Given the description of an element on the screen output the (x, y) to click on. 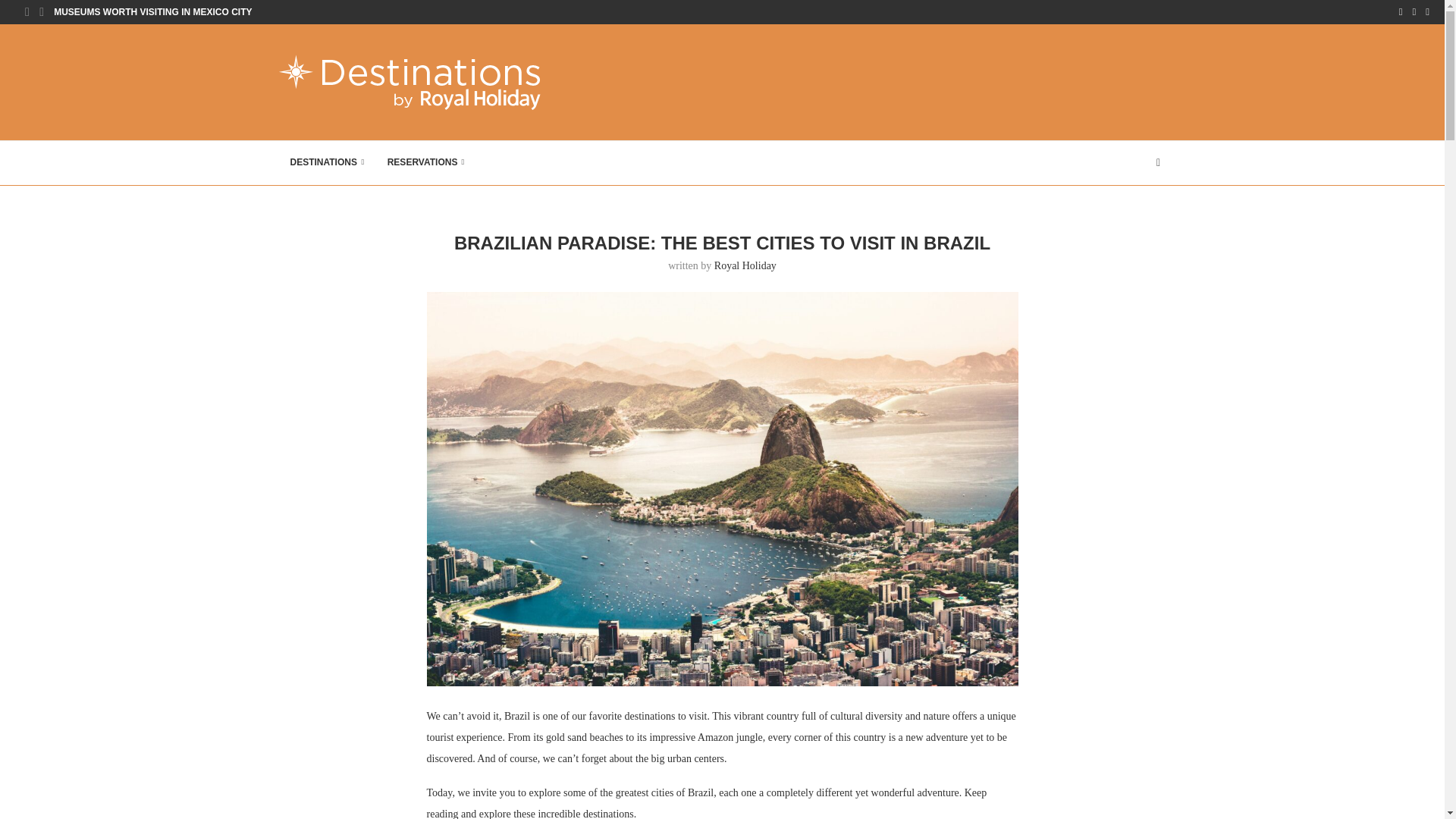
MUSEUMS WORTH VISITING IN MEXICO CITY (152, 12)
DESTINATIONS (327, 162)
